Given the description of an element on the screen output the (x, y) to click on. 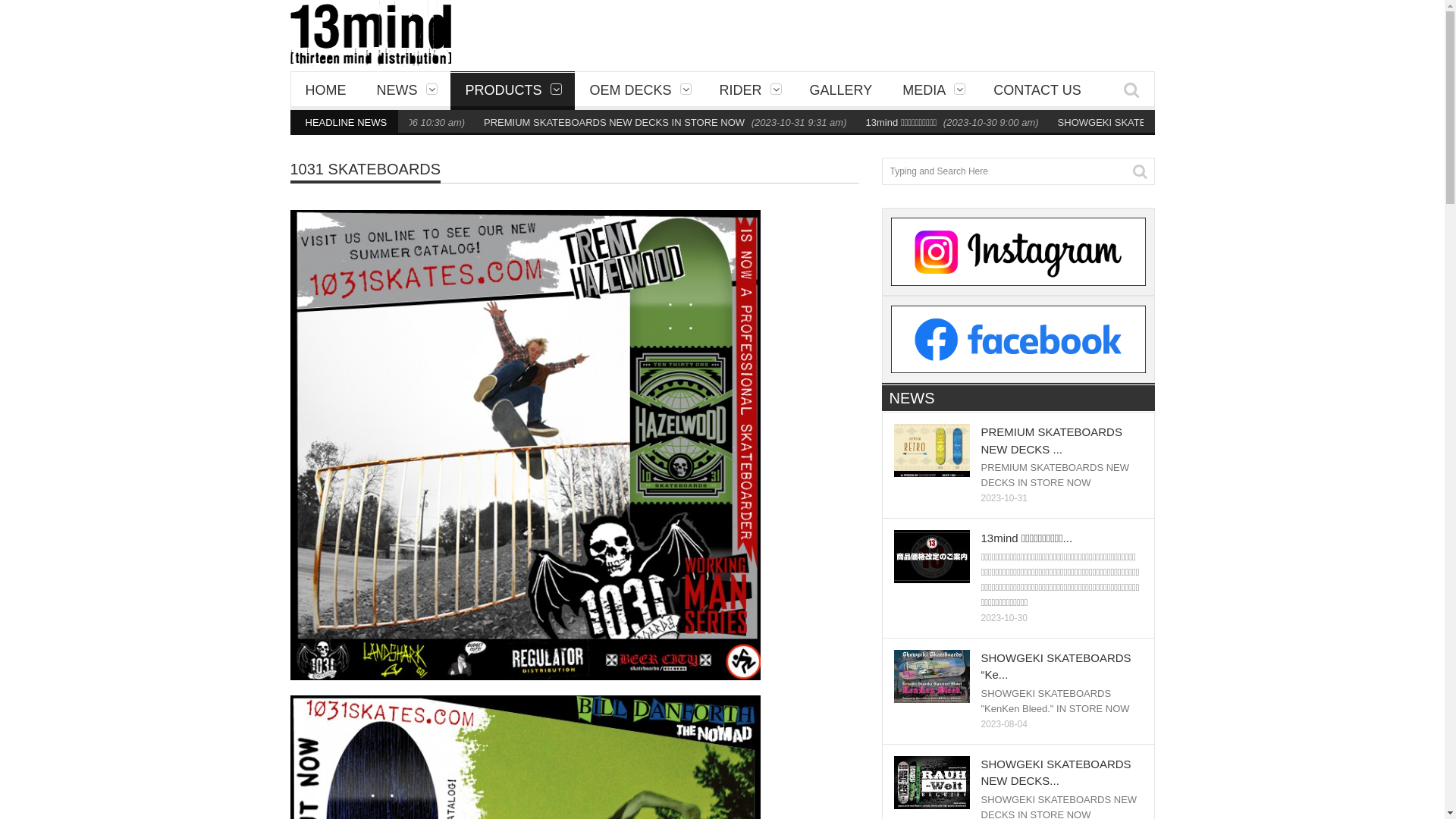
PRODUCTS Element type: text (512, 89)
PREMIUM SKATEBOARDS NEW DECKS IN STORE NOW Element type: text (682, 122)
HOME Element type: text (324, 89)
RIDER Element type: text (749, 89)
PREMIUM SKATEBOARDS NEW DECKS IN STORE NOW Element type: text (296, 122)
PREMIUM SKATEBOARDS NEW DECKS ... Element type: text (1051, 440)
CONTACT US Element type: text (1036, 89)
NEWS Element type: text (404, 89)
OEM DECKS Element type: text (639, 89)
SHOWGEKI SKATEBOARDS NEW DECKS... Element type: text (1056, 772)
GALLERY Element type: text (841, 89)
MEDIA Element type: text (932, 89)
